Given the description of an element on the screen output the (x, y) to click on. 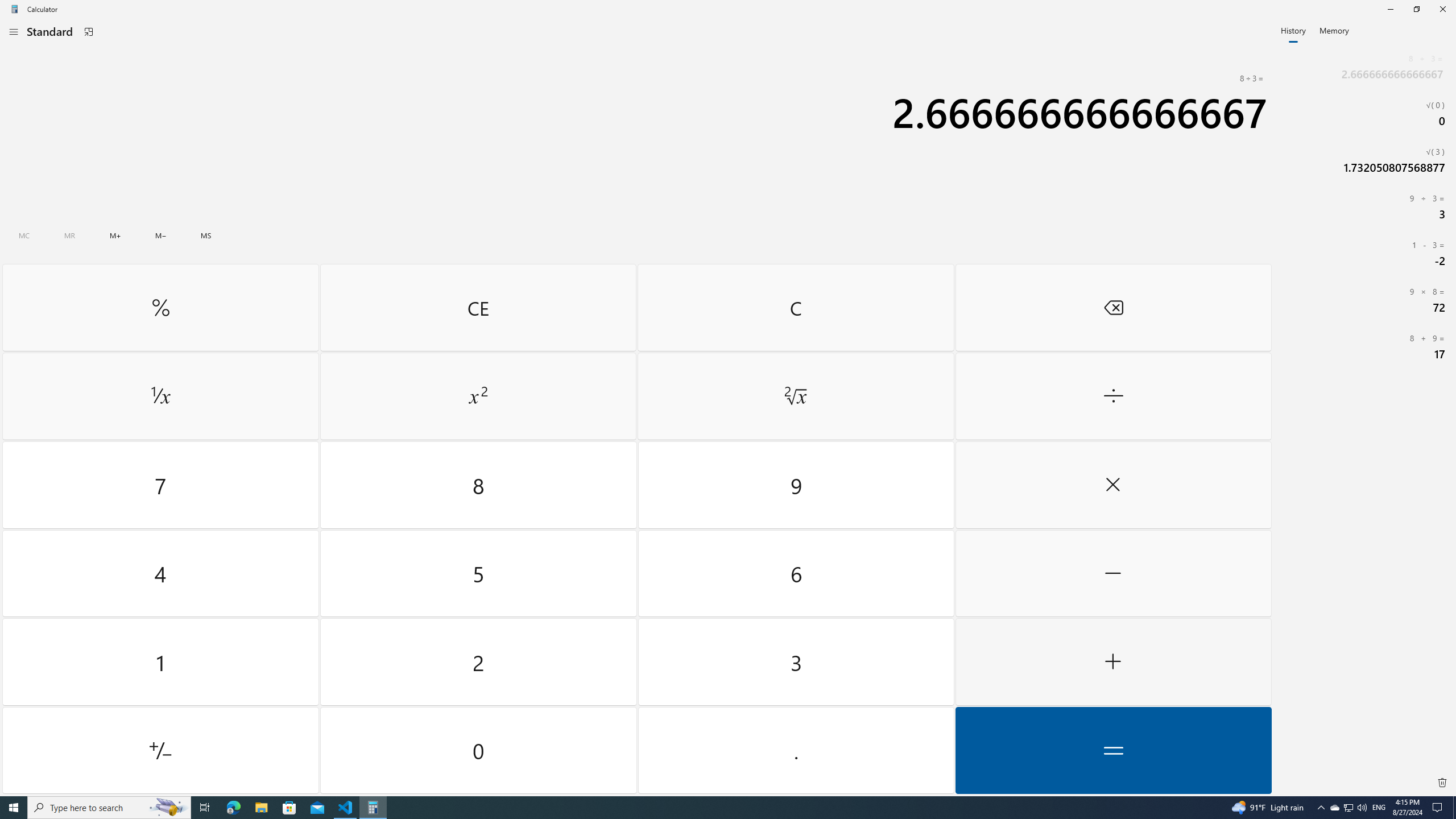
Clear (795, 307)
Equals (1113, 749)
Eight (478, 485)
Memory add (115, 235)
Calculator - 1 running window (373, 807)
Percent (160, 307)
Search highlights icon opens search home window (167, 807)
Memory subtract (160, 235)
Minimize Calculator (1390, 9)
Memory recall (69, 235)
History (1293, 29)
Task View (204, 807)
Clear entry (478, 307)
Nine (795, 485)
